Given the description of an element on the screen output the (x, y) to click on. 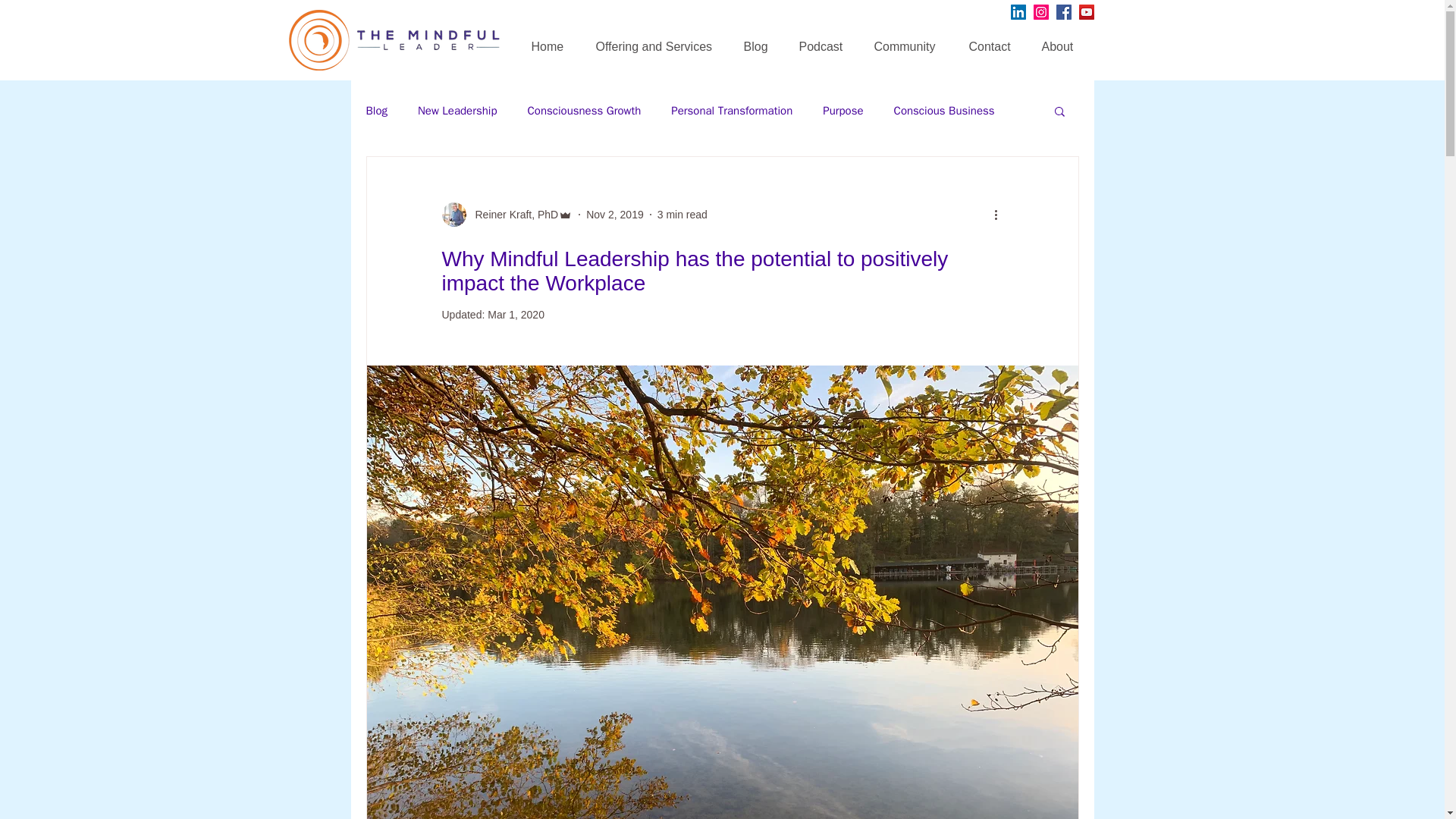
Blog (376, 110)
Mar 1, 2020 (515, 314)
Podcast (824, 39)
Reiner Kraft, PhD (511, 213)
Contact (992, 39)
3 min read (682, 214)
The Mindful Leader (427, 39)
Community (910, 39)
Home (552, 39)
The Mindful Leader (318, 39)
